Given the description of an element on the screen output the (x, y) to click on. 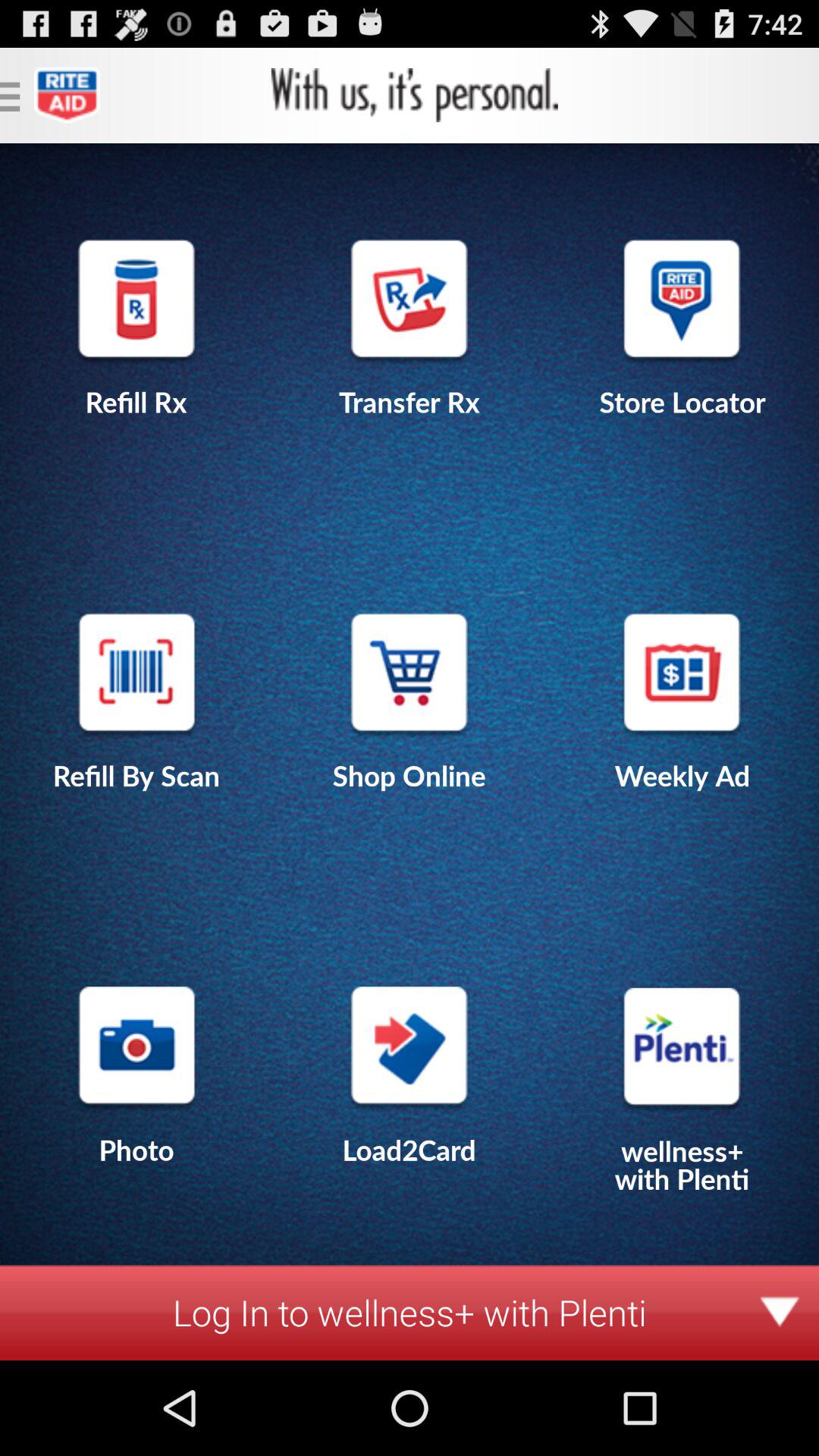
launch log in to (409, 1312)
